Given the description of an element on the screen output the (x, y) to click on. 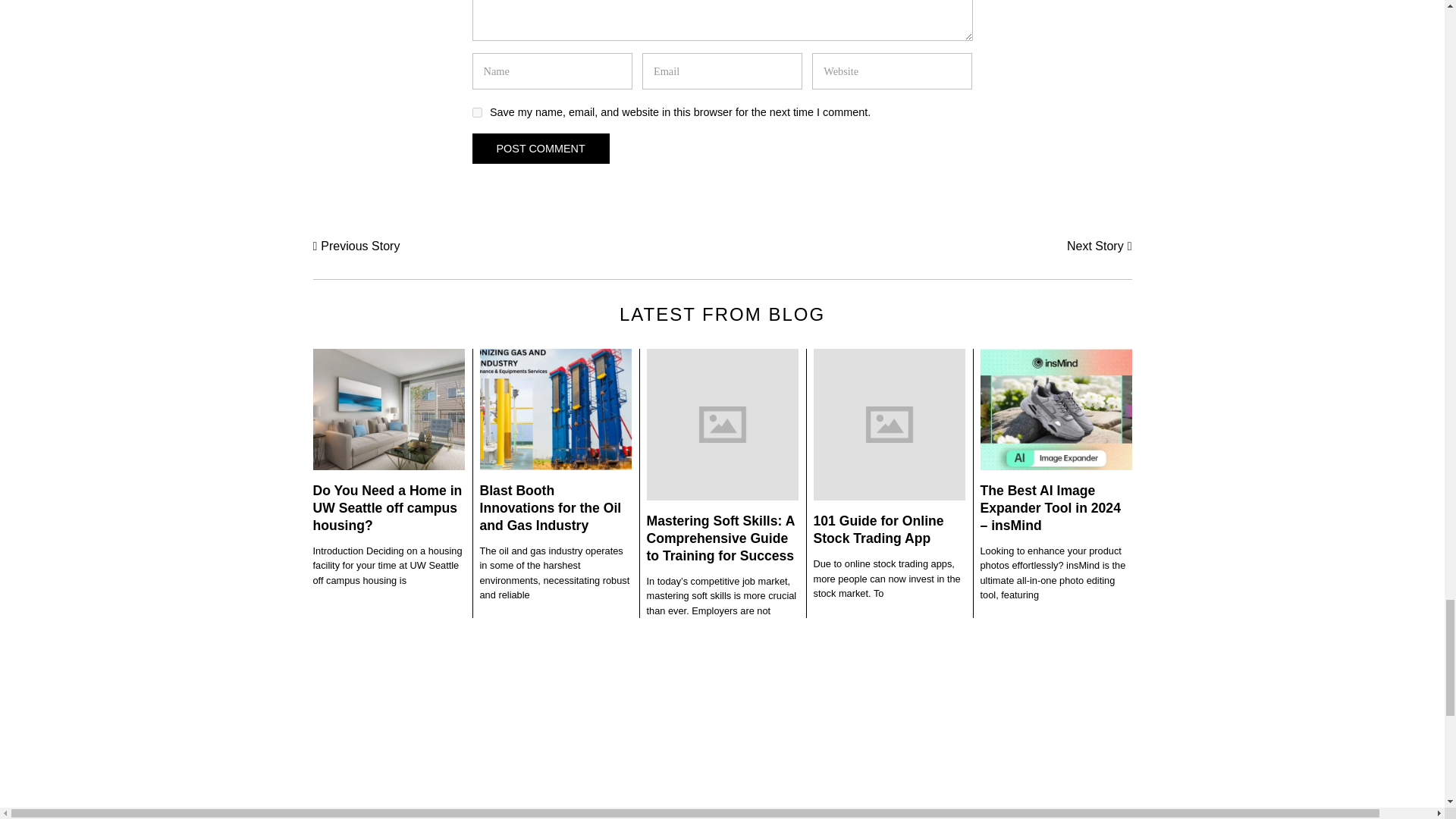
Post Comment (539, 148)
yes (476, 112)
